Given the description of an element on the screen output the (x, y) to click on. 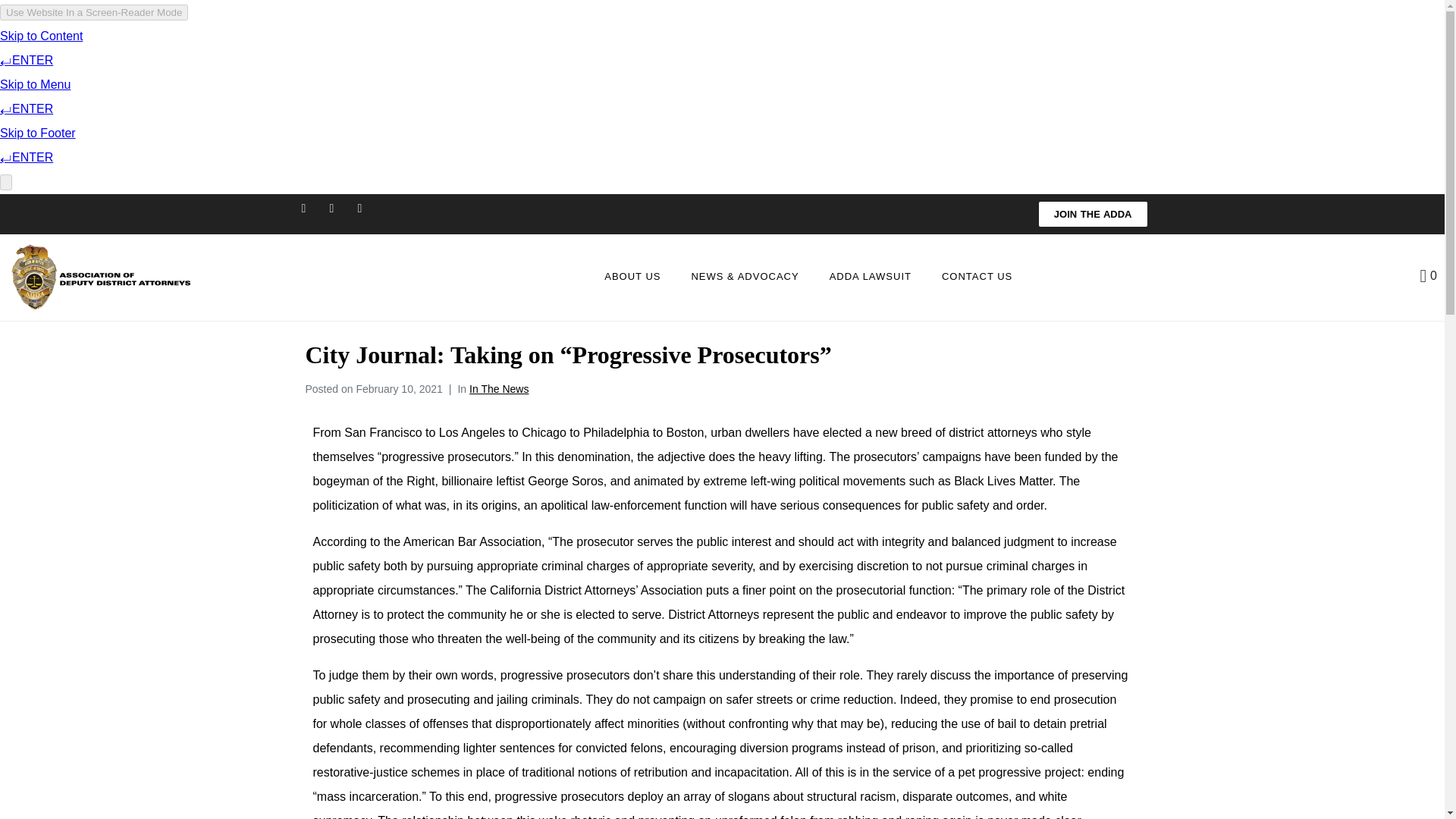
ABOUT US (631, 276)
In The News (498, 388)
JOIN THE ADDA (1093, 213)
ADDA LAWSUIT (870, 276)
CONTACT US (976, 276)
